Given the description of an element on the screen output the (x, y) to click on. 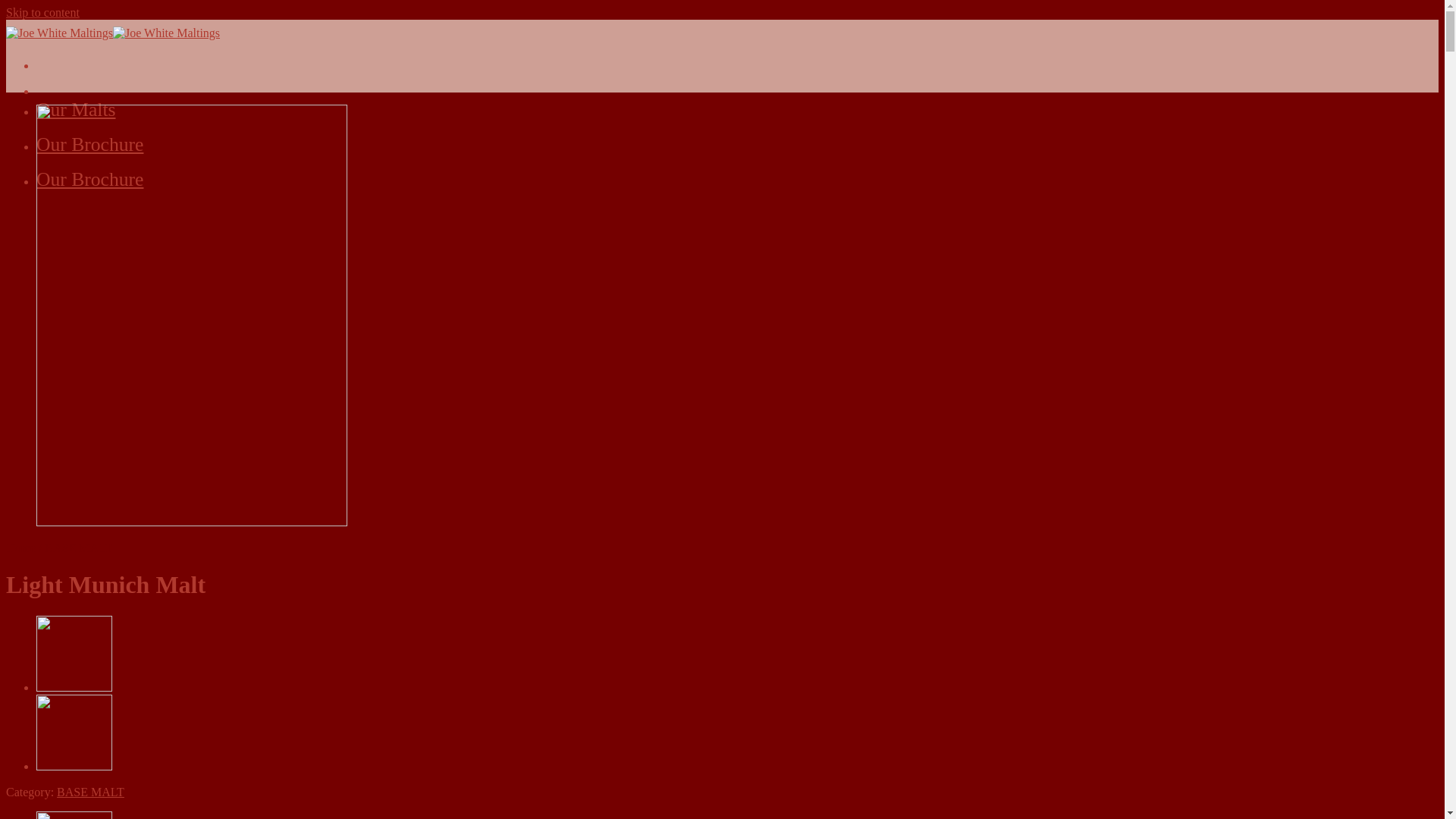
LIghtMunich Element type: hover (191, 315)
BASE MALT Element type: text (90, 791)
BASE MALT Element type: text (78, 547)
Skip to content Element type: text (42, 12)
Vienna Malt Element type: hover (74, 765)
Home Element type: text (20, 547)
Joe White Maltings - Australian Maltsters Since 1858 Element type: hover (112, 32)
Dark Munich Malt Element type: hover (74, 686)
Our Brochure Element type: text (89, 144)
Our Brochure Element type: text (89, 179)
Our Malts Element type: text (76, 109)
